Given the description of an element on the screen output the (x, y) to click on. 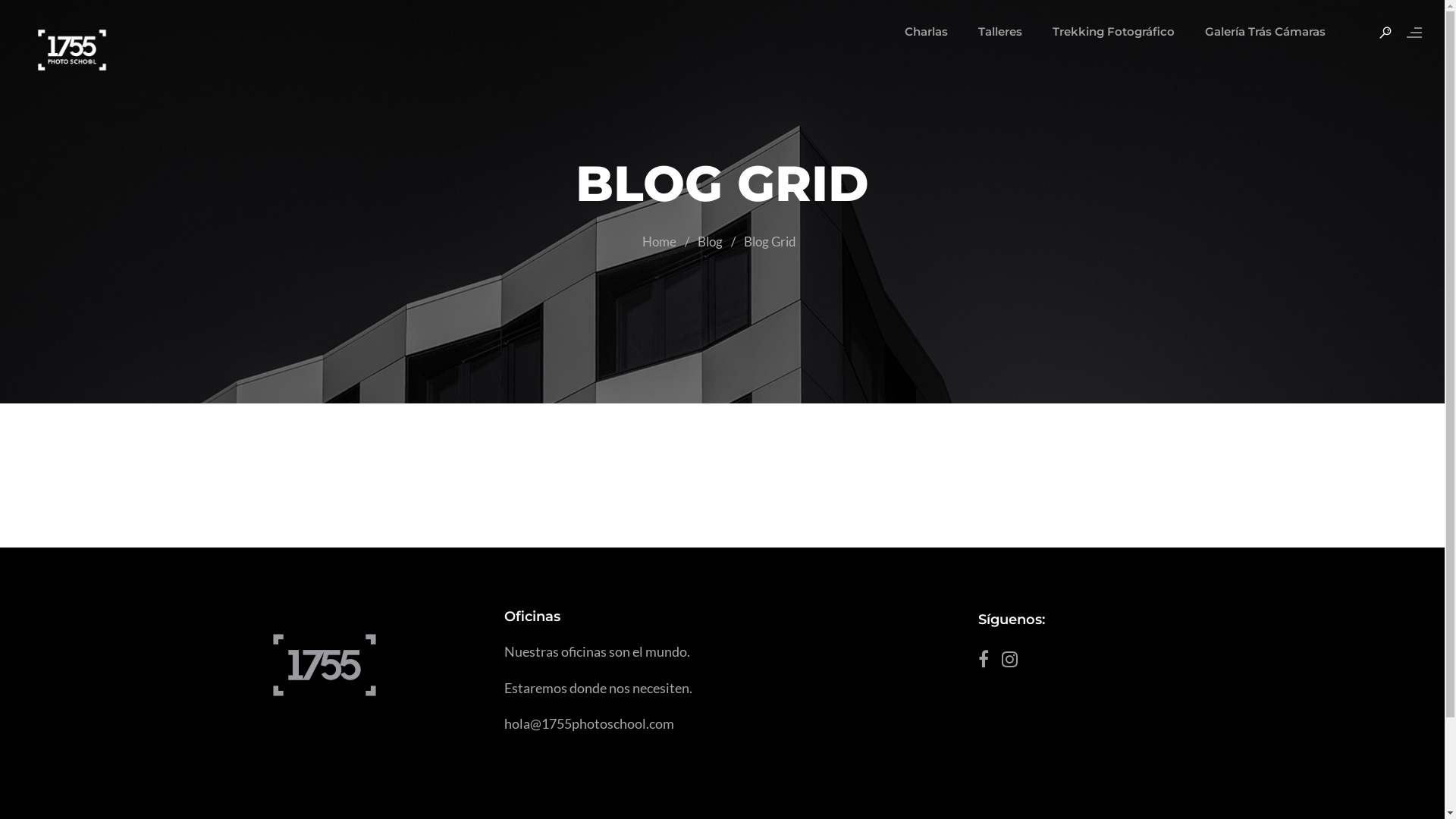
Instagram Element type: hover (1013, 662)
Facebook Element type: hover (987, 662)
Blog Element type: text (709, 241)
Talleres Element type: text (1000, 31)
Charlas Element type: text (925, 31)
Search Element type: text (26, 12)
hola@1755photoschool.com Element type: text (589, 723)
Home Element type: text (659, 241)
Sidebar Menu Controller Element type: hover (1406, 33)
